Given the description of an element on the screen output the (x, y) to click on. 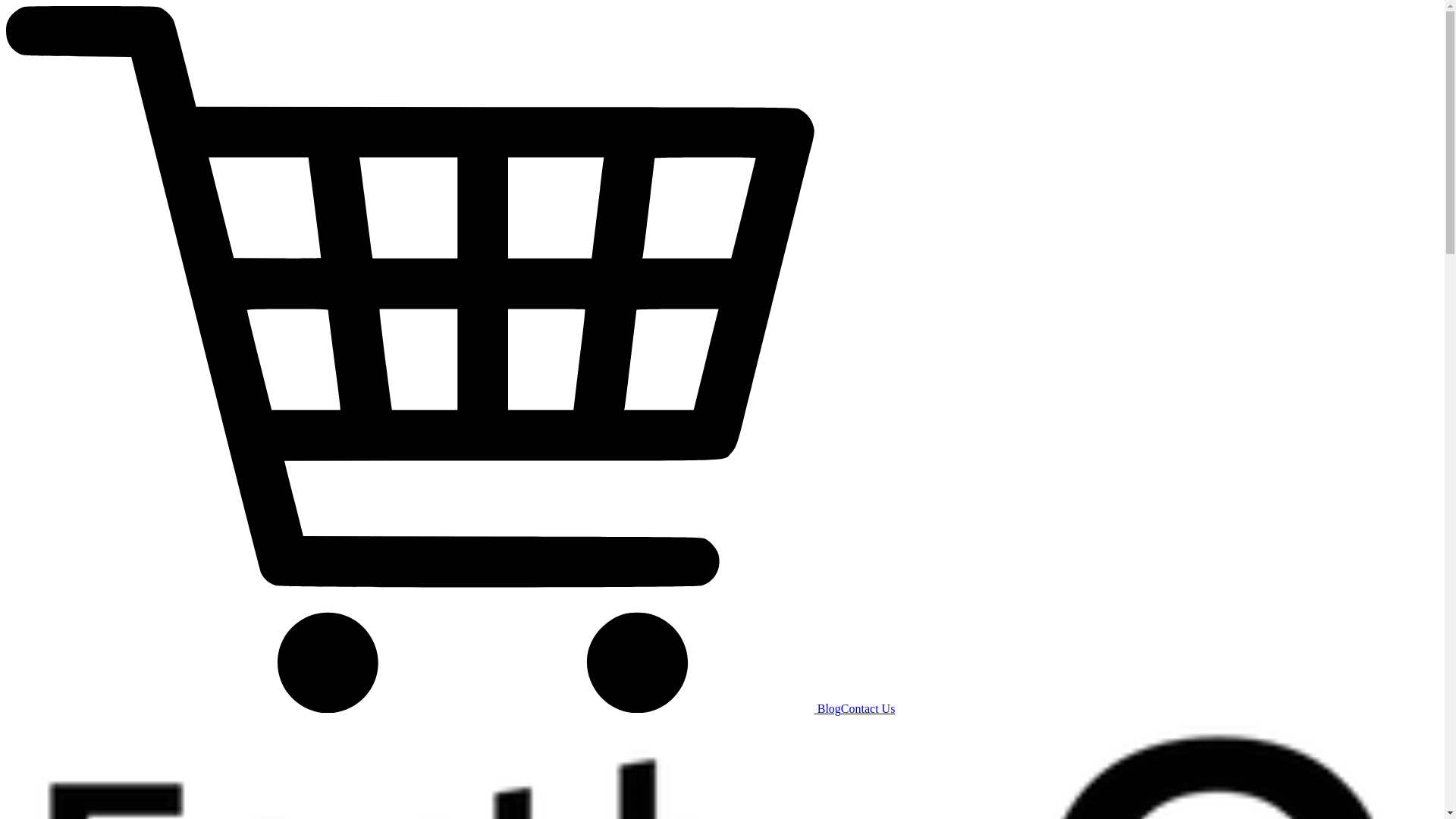
Contact Us Element type: text (867, 708)
Blog Element type: text (828, 708)
